Given the description of an element on the screen output the (x, y) to click on. 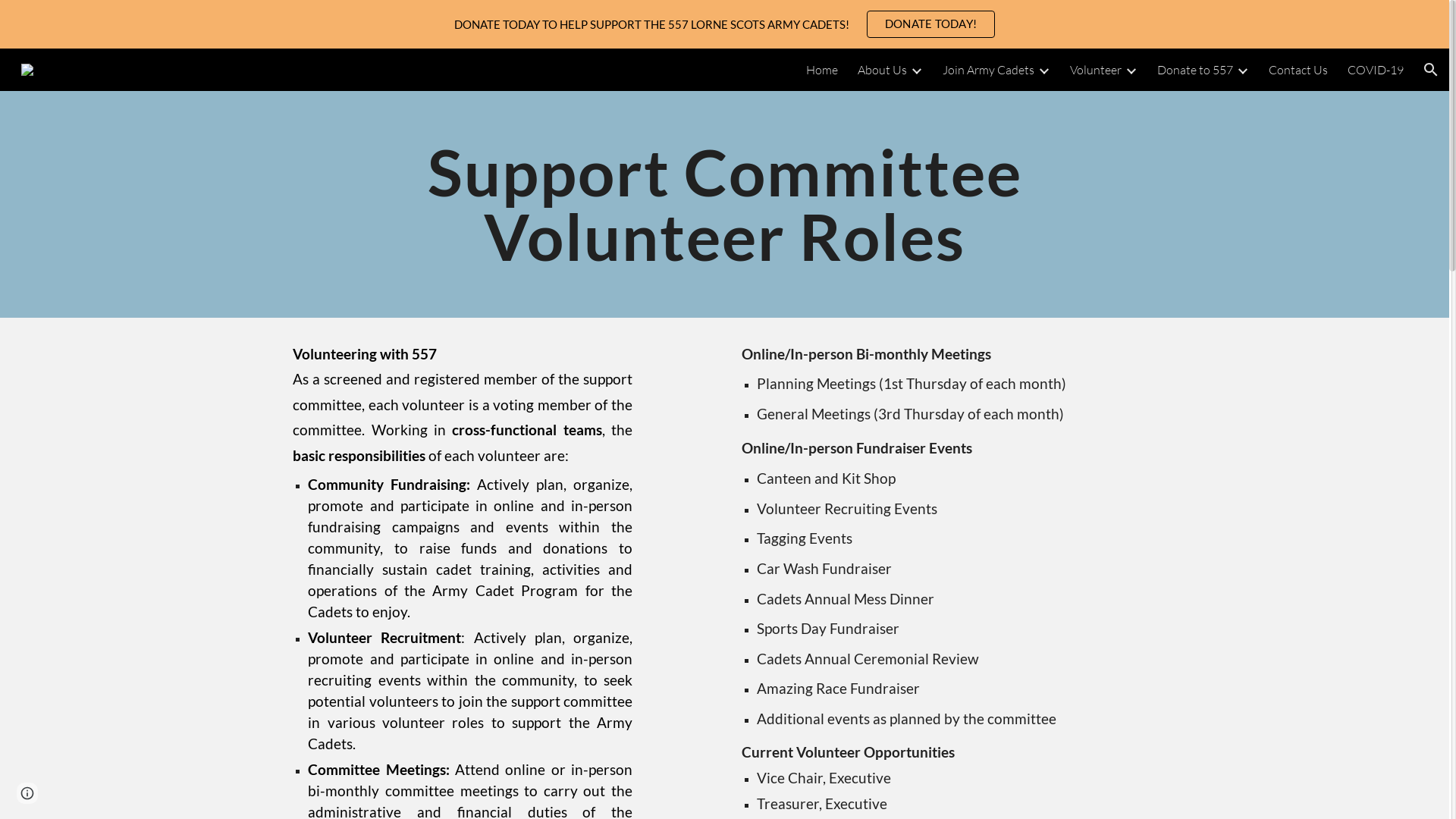
Expand/Collapse Element type: hover (1241, 69)
Volunteer Element type: text (1095, 69)
Contact Us Element type: text (1297, 69)
Expand/Collapse Element type: hover (1043, 69)
DONATE TODAY! Element type: text (930, 24)
About Us Element type: text (881, 69)
Home Element type: text (821, 69)
Join Army Cadets Element type: text (988, 69)
Expand/Collapse Element type: hover (1130, 69)
Expand/Collapse Element type: hover (915, 69)
COVID-19 Element type: text (1375, 69)
Donate to 557 Element type: text (1195, 69)
